Given the description of an element on the screen output the (x, y) to click on. 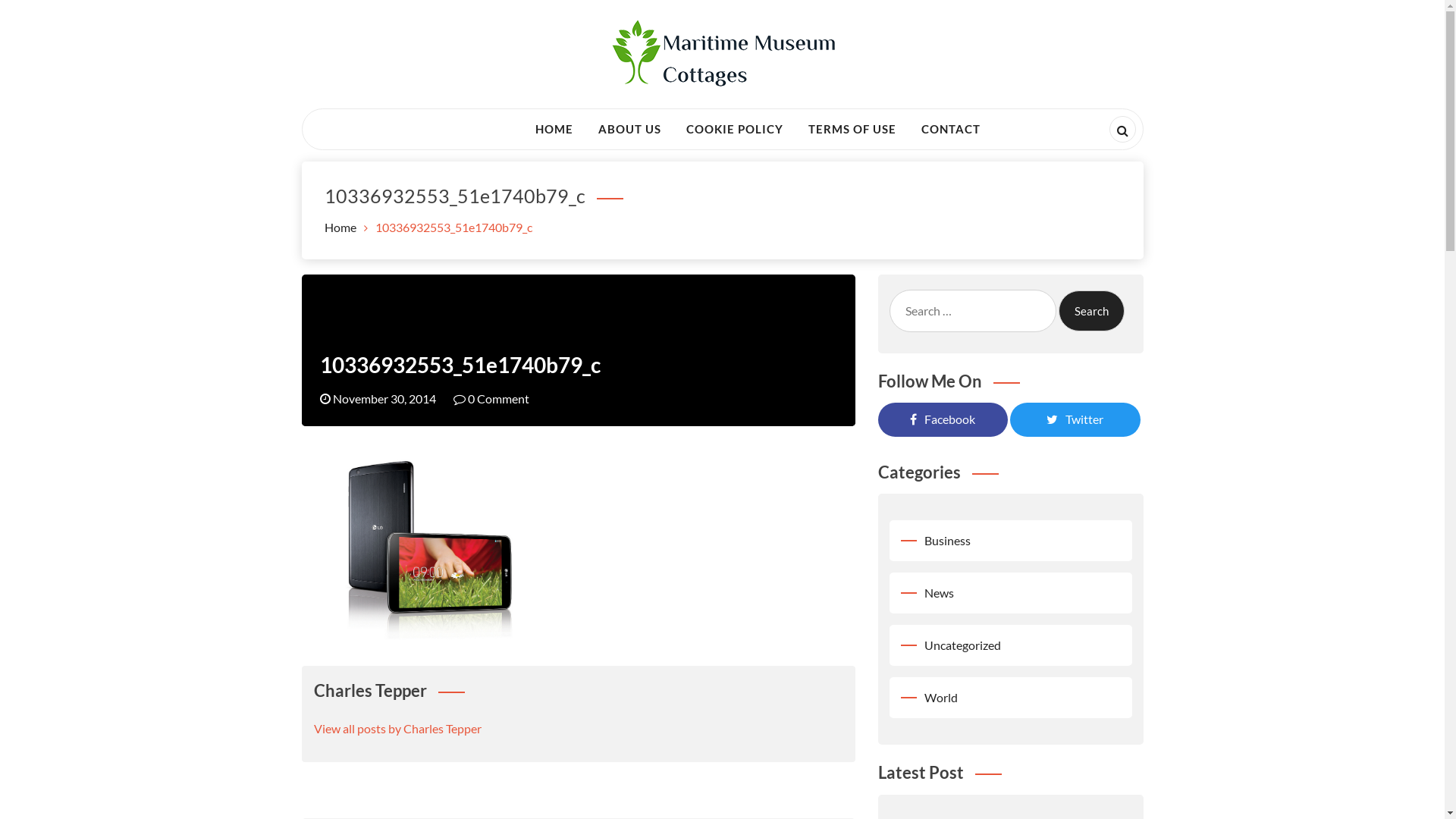
ABOUT US Element type: text (629, 129)
HOME Element type: text (554, 129)
World Element type: text (940, 697)
View all posts by Charles Tepper Element type: text (397, 728)
10336932553_51e1740b79_C Element type: text (460, 364)
Home Element type: text (340, 226)
COOKIE POLICY Element type: text (734, 129)
TERMS OF USE Element type: text (852, 129)
0 Comment Element type: text (491, 398)
Uncategorized Element type: text (961, 644)
Search Element type: text (39, 17)
CONTACT Element type: text (950, 129)
Search Element type: text (1091, 310)
News Element type: text (938, 592)
Business Element type: text (946, 540)
Twitter Element type: text (1074, 419)
Facebook Element type: text (943, 419)
Maritime Museum Cottages Element type: text (509, 126)
